Given the description of an element on the screen output the (x, y) to click on. 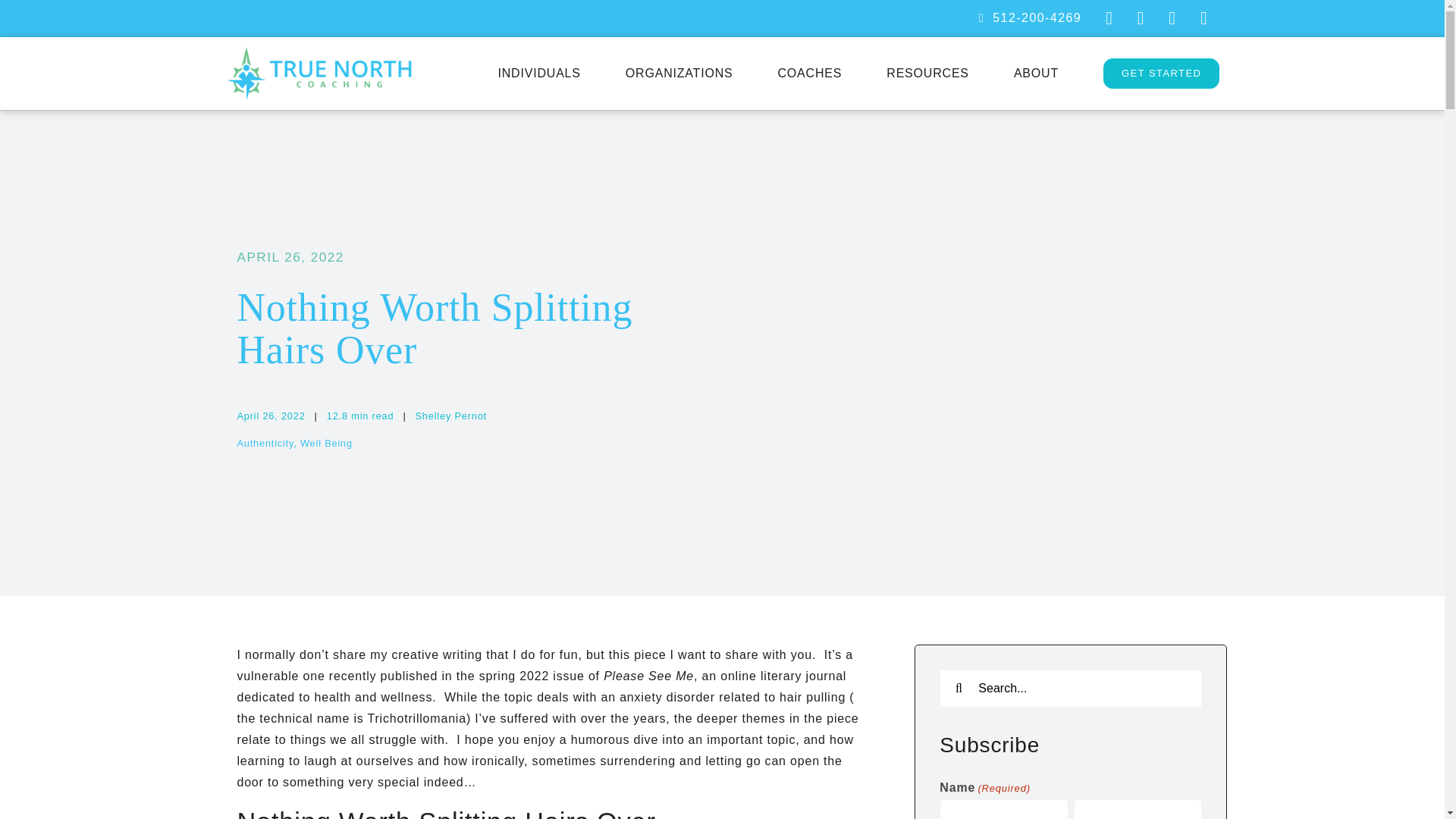
512-200-4269 (1029, 18)
COACHES (810, 73)
Call to get started (1029, 18)
RESOURCES (927, 73)
ORGANIZATIONS (679, 73)
Authenticity (264, 442)
Well Being (325, 442)
GET STARTED (1161, 73)
INDIVIDUALS (538, 73)
Authenticity (264, 442)
Well Being (325, 442)
ABOUT (1035, 73)
